Given the description of an element on the screen output the (x, y) to click on. 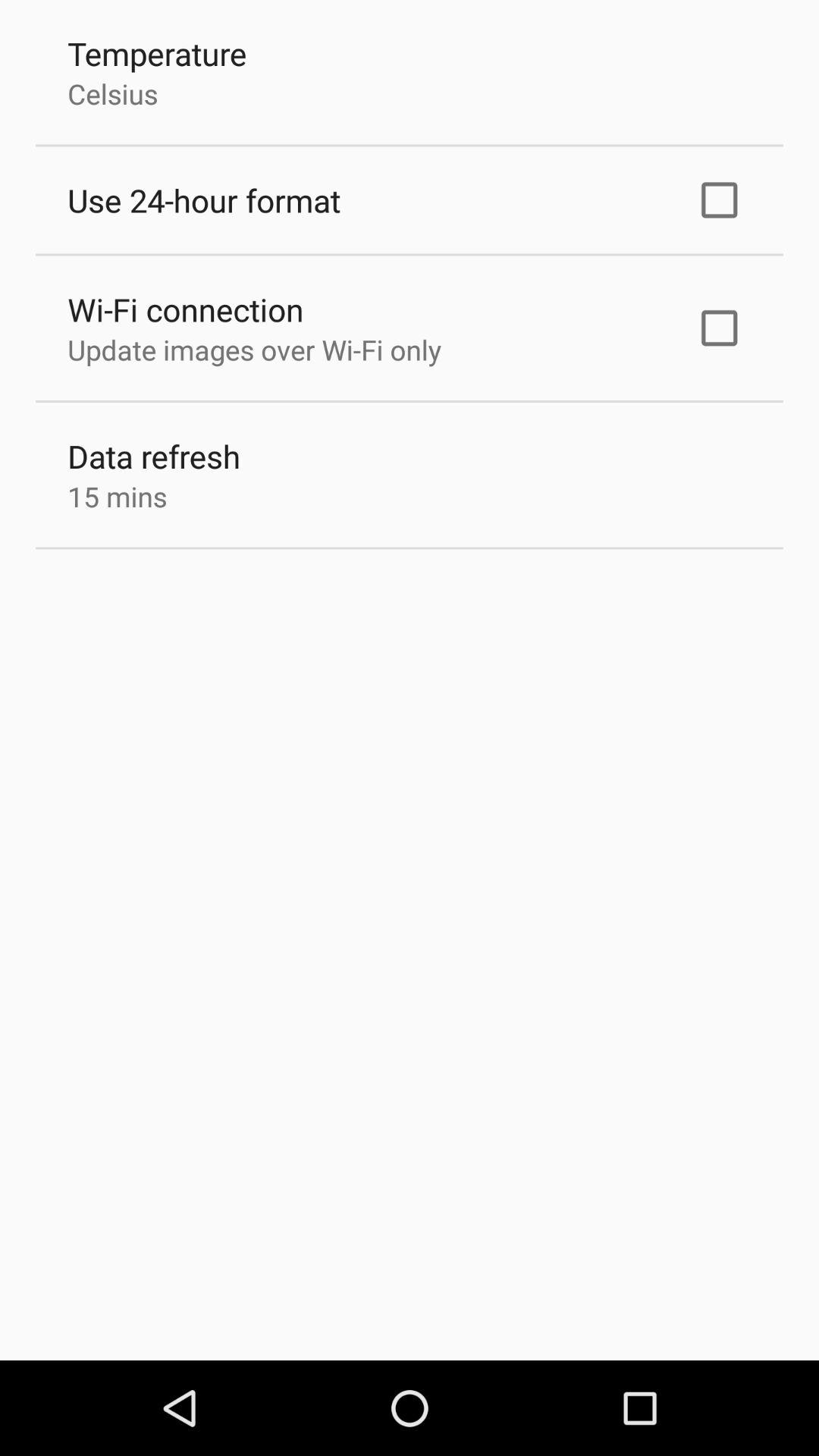
choose the app above use 24 hour icon (112, 93)
